Given the description of an element on the screen output the (x, y) to click on. 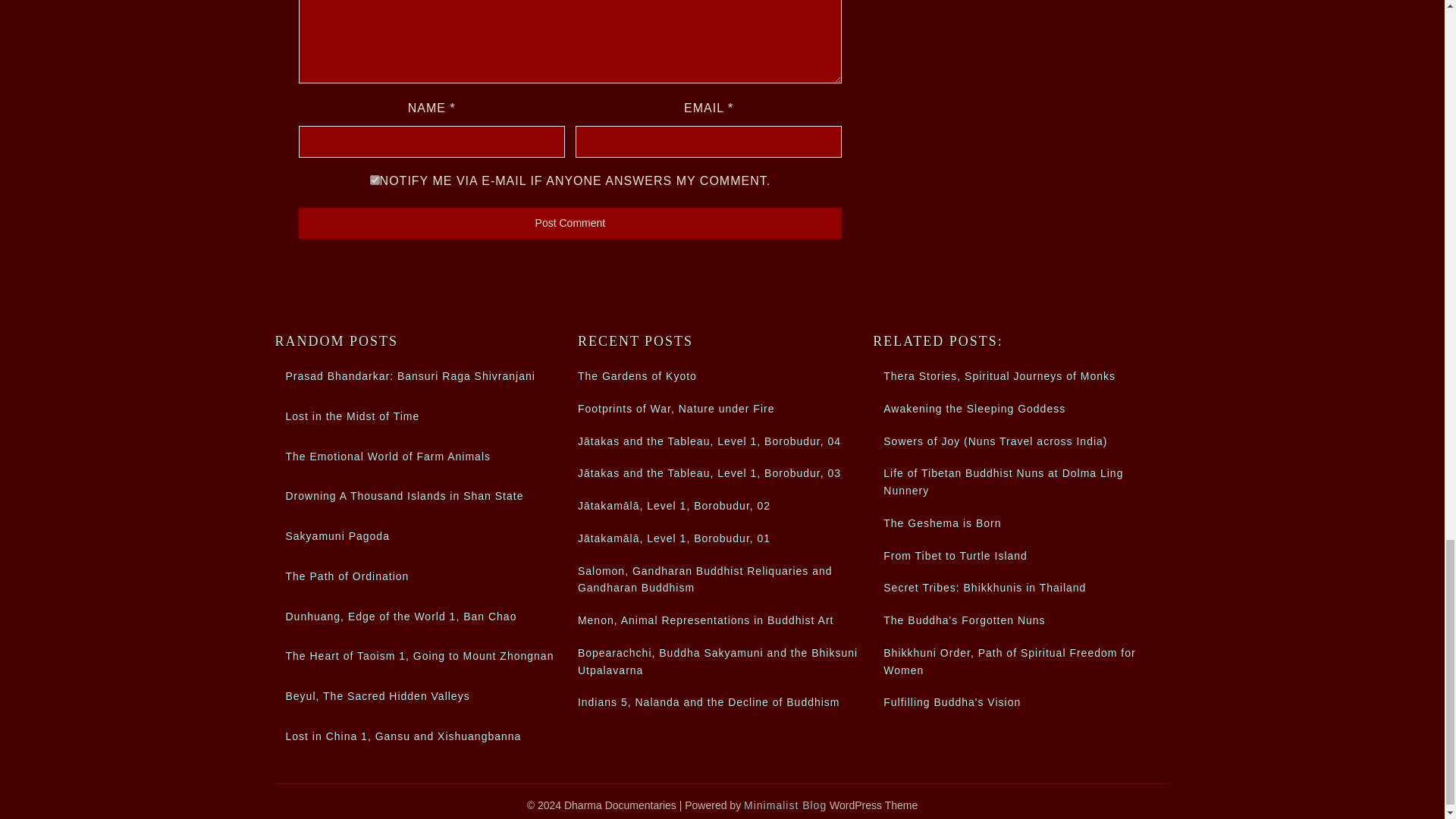
Lost in the Midst of Time (352, 416)
Prasad Bhandarkar: Bansuri Raga Shivranjani (409, 376)
on (374, 180)
Post Comment (570, 223)
Post Comment (570, 223)
